Given the description of an element on the screen output the (x, y) to click on. 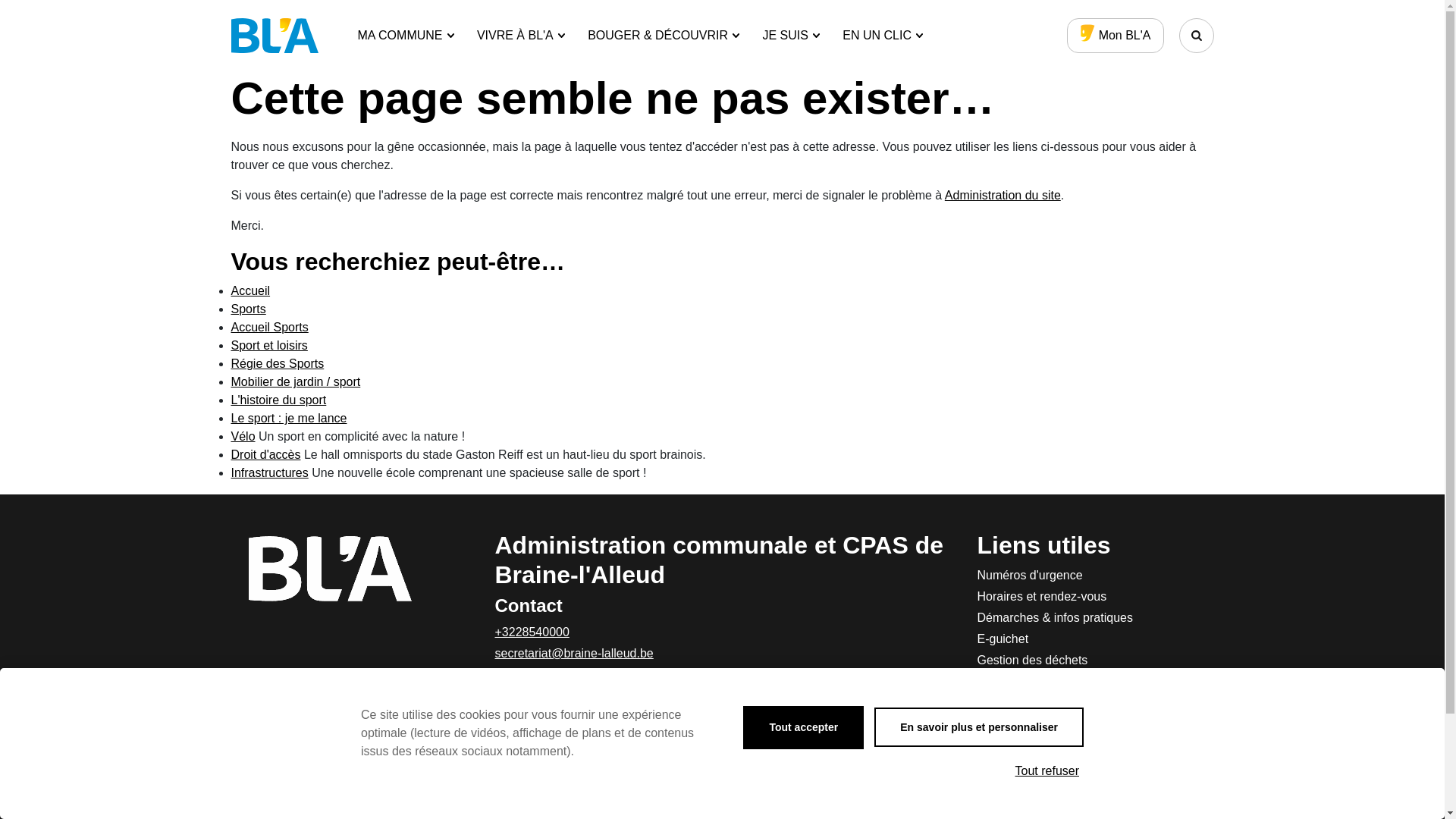
Accueil Element type: text (249, 290)
Tout accepter Element type: text (803, 727)
Mon BL'A Element type: text (1115, 35)
En savoir plus et personnaliser Element type: text (978, 726)
JE SUIS Element type: text (790, 35)
EN UN CLIC Element type: text (882, 35)
https://twitter.com/braine_l_alleud Element type: text (539, 689)
secretariat@braine-lalleud.be Element type: text (573, 652)
Le sport : je me lance Element type: text (288, 417)
Primes Element type: text (1085, 745)
Infrastructures Element type: text (268, 472)
MA COMMUNE Element type: text (405, 35)
Sports Element type: text (247, 308)
L'histoire du sport Element type: text (278, 399)
Rechercher Element type: text (1195, 35)
Tout refuser Element type: text (1046, 771)
Plan du site Element type: text (1085, 809)
Travaux Element type: text (1085, 766)
+3228540000 Element type: text (531, 631)
Administration du site Element type: text (1002, 194)
Permanences Element type: text (1085, 702)
Accueil Sports Element type: text (268, 326)
Charte graphique Element type: text (1085, 787)
Sport et loisirs Element type: text (268, 344)
E-guichet Element type: text (1085, 639)
https://www.facebook.com/commune.braine.lalleud Element type: text (505, 689)
Horaires et rendez-vous Element type: text (1085, 596)
Mobilier de jardin / sport Element type: text (295, 381)
Plan de stationnement Element type: text (1085, 724)
